Given the description of an element on the screen output the (x, y) to click on. 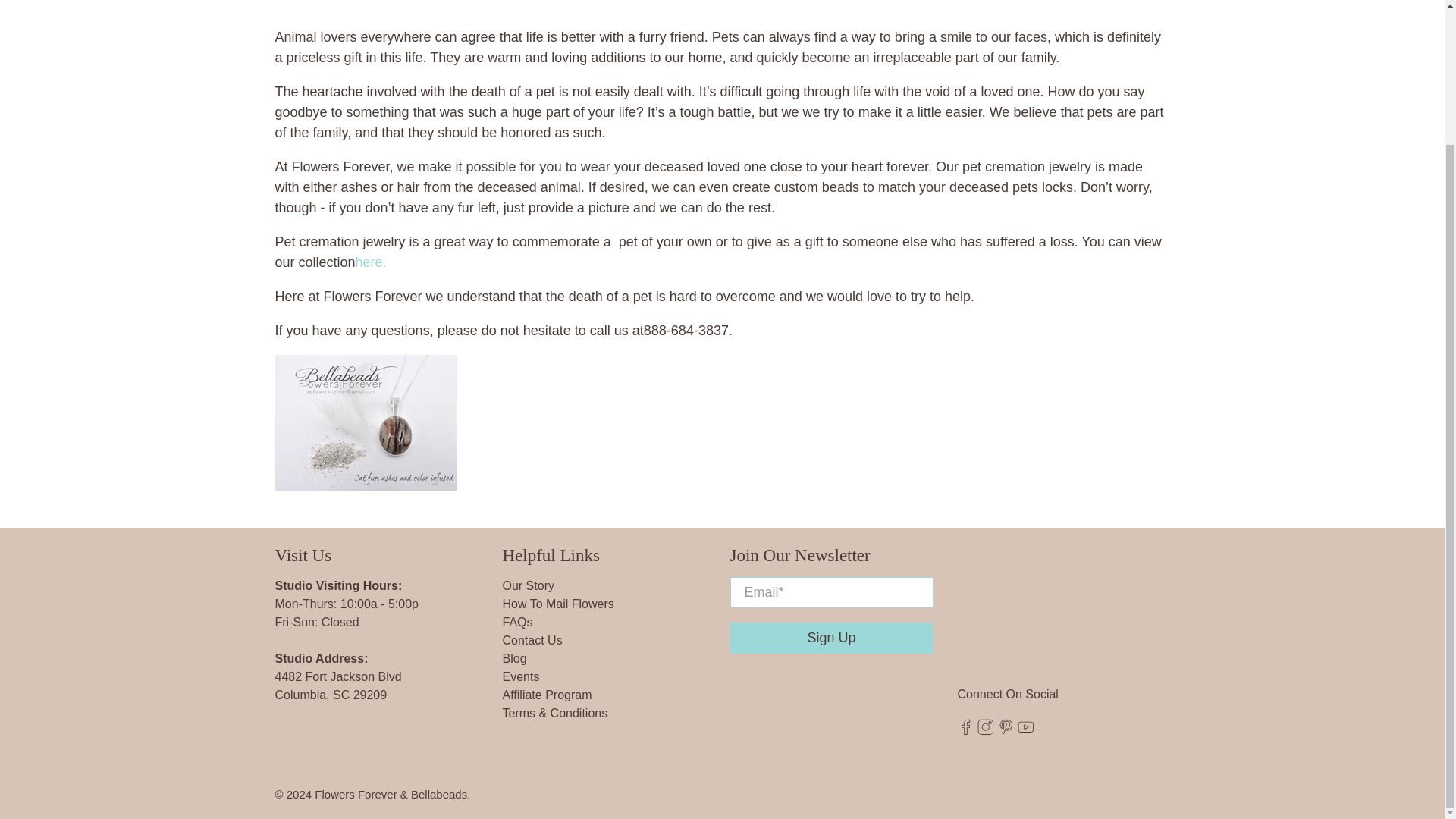
here. (371, 262)
4482 Fort Jackson Blvd (338, 676)
Our Story (527, 585)
How To Mail Flowers (557, 603)
Columbia, SC 29209 (331, 694)
